Given the description of an element on the screen output the (x, y) to click on. 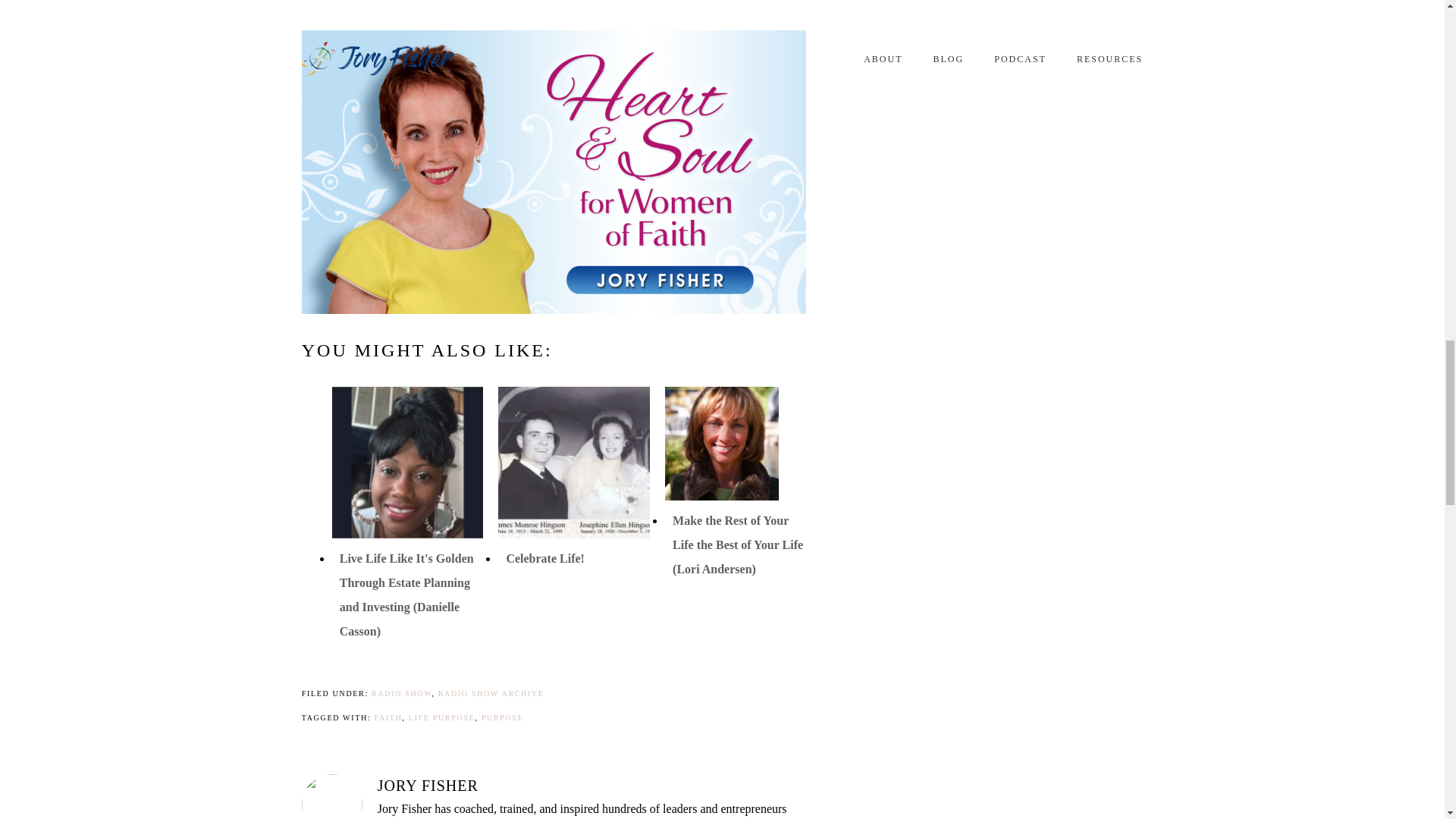
Celebrate Life! (545, 558)
RADIO SHOW (400, 693)
FAITH (387, 717)
RADIO SHOW ARCHIVE (491, 693)
PURPOSE (502, 717)
LIFE PURPOSE (442, 717)
